Given the description of an element on the screen output the (x, y) to click on. 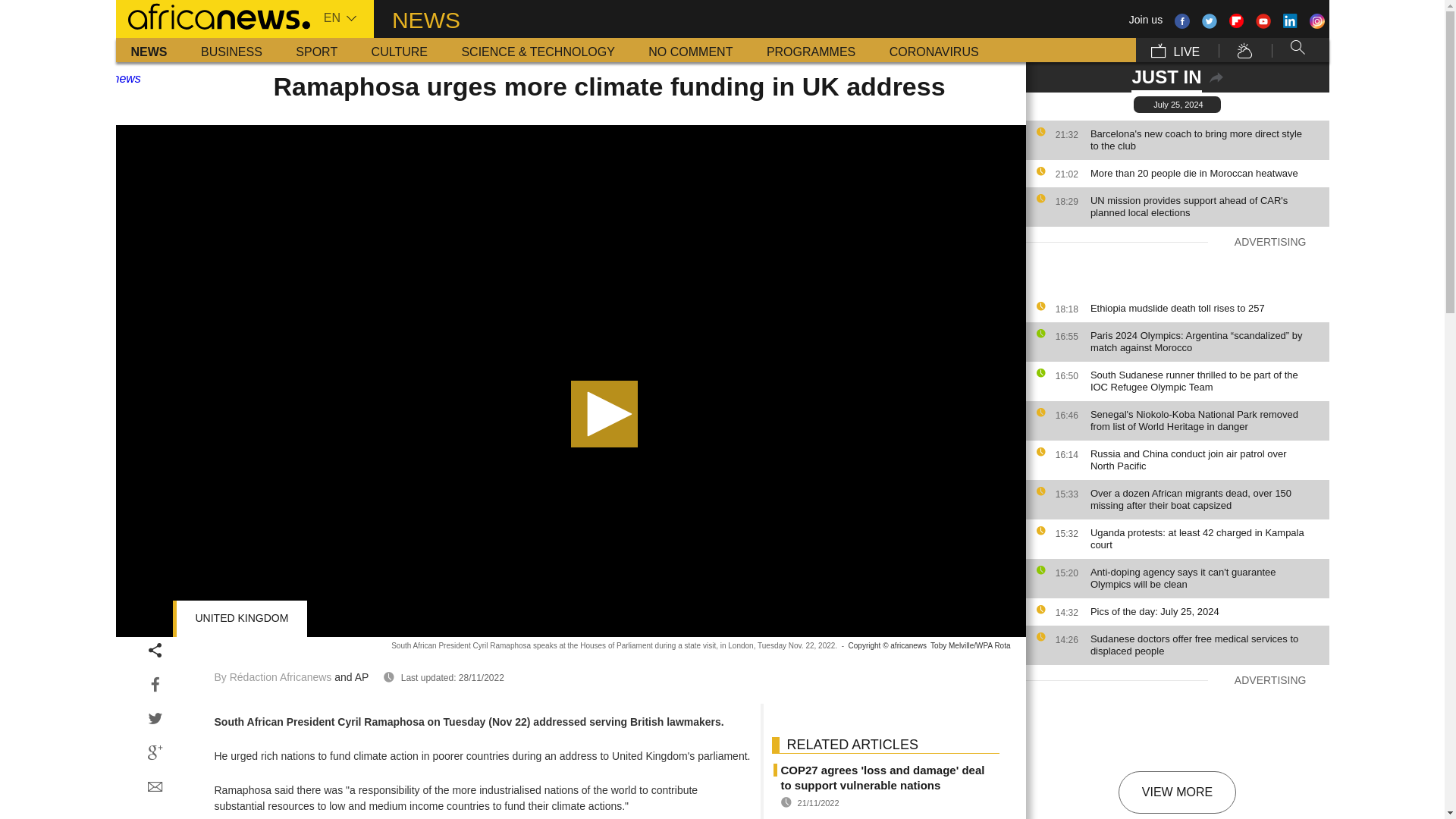
News (148, 49)
LIVE (1174, 49)
Barcelona's new coach to bring more direct style to the club (1206, 139)
Coronavirus (934, 49)
Programmes (810, 49)
Culture (399, 49)
CORONAVIRUS (934, 49)
Business (232, 49)
Sport (316, 49)
NO COMMENT (690, 49)
NEWS (148, 49)
PROGRAMMES (810, 49)
More than 20 people die in Moroccan heatwave (1206, 173)
No Comment (690, 49)
